Given the description of an element on the screen output the (x, y) to click on. 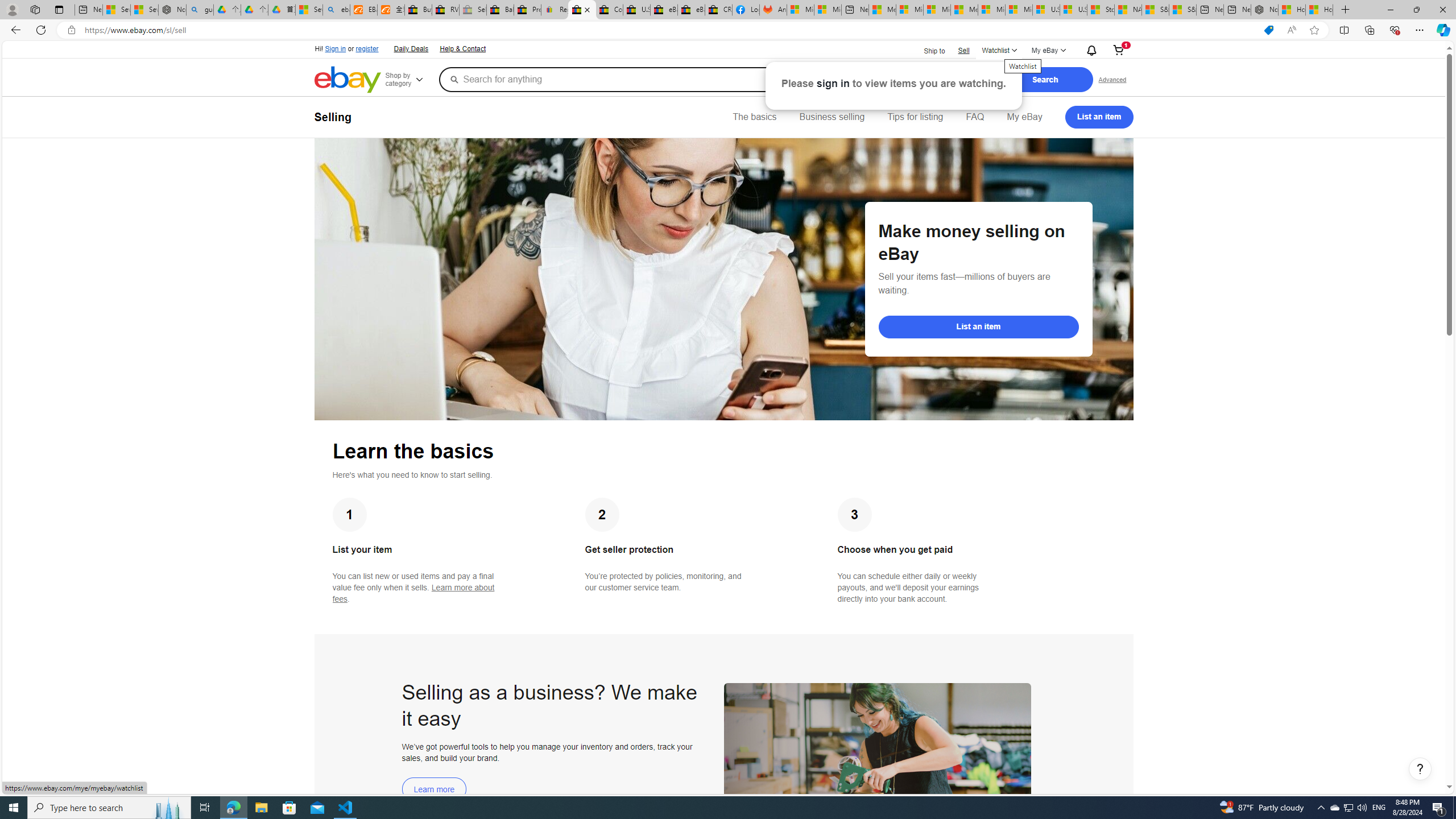
Press Room - eBay Inc. (527, 9)
My eBayExpand My eBay (1048, 50)
Help, opens dialogs (1420, 768)
Consumer Health Data Privacy Policy - eBay Inc. (609, 9)
eBay Home (347, 79)
Daily Deals (411, 49)
